Given the description of an element on the screen output the (x, y) to click on. 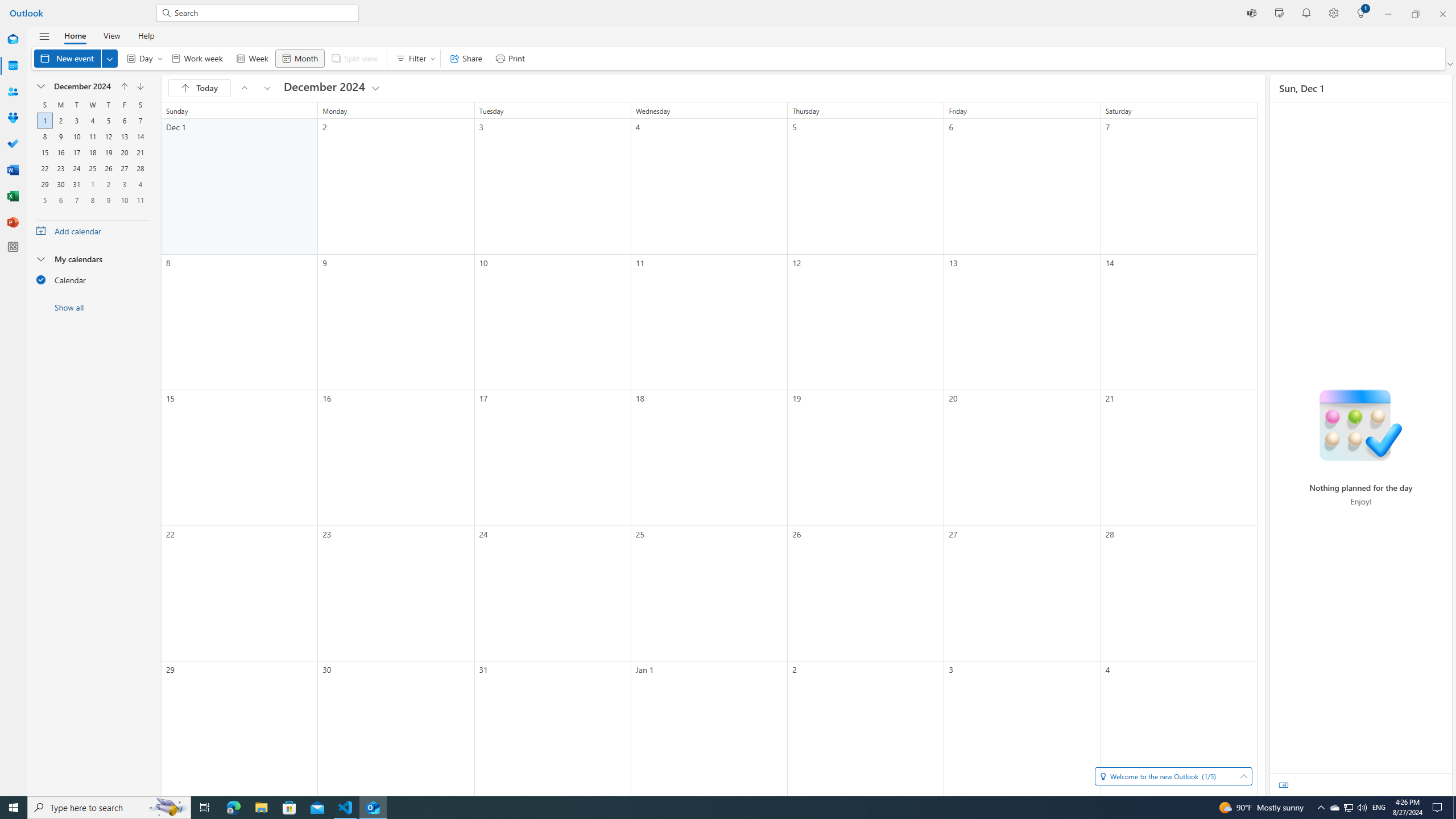
18, December, 2024 (92, 152)
5, January, 2025 (44, 200)
13, December, 2024 (124, 136)
17, December, 2024 (75, 152)
20, December, 2024 (124, 152)
27, December, 2024 (124, 168)
9, January, 2025 (108, 200)
5, January, 2025 (44, 200)
2, December, 2024 (59, 120)
Type here to search (108, 807)
17, December, 2024 (76, 152)
System (6, 6)
Home (74, 35)
More apps (12, 246)
